Given the description of an element on the screen output the (x, y) to click on. 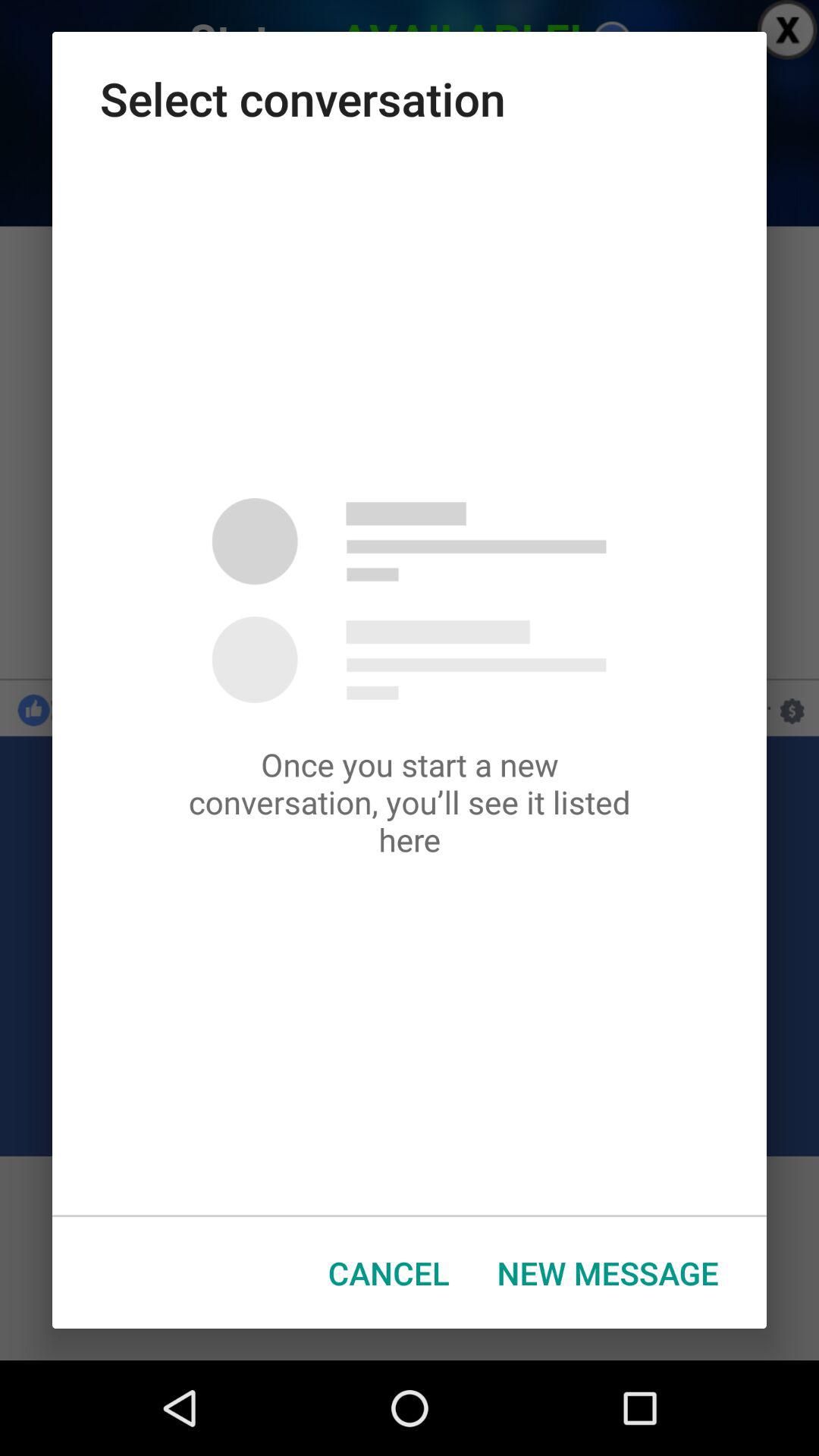
choose the button at the bottom right corner (607, 1272)
